Given the description of an element on the screen output the (x, y) to click on. 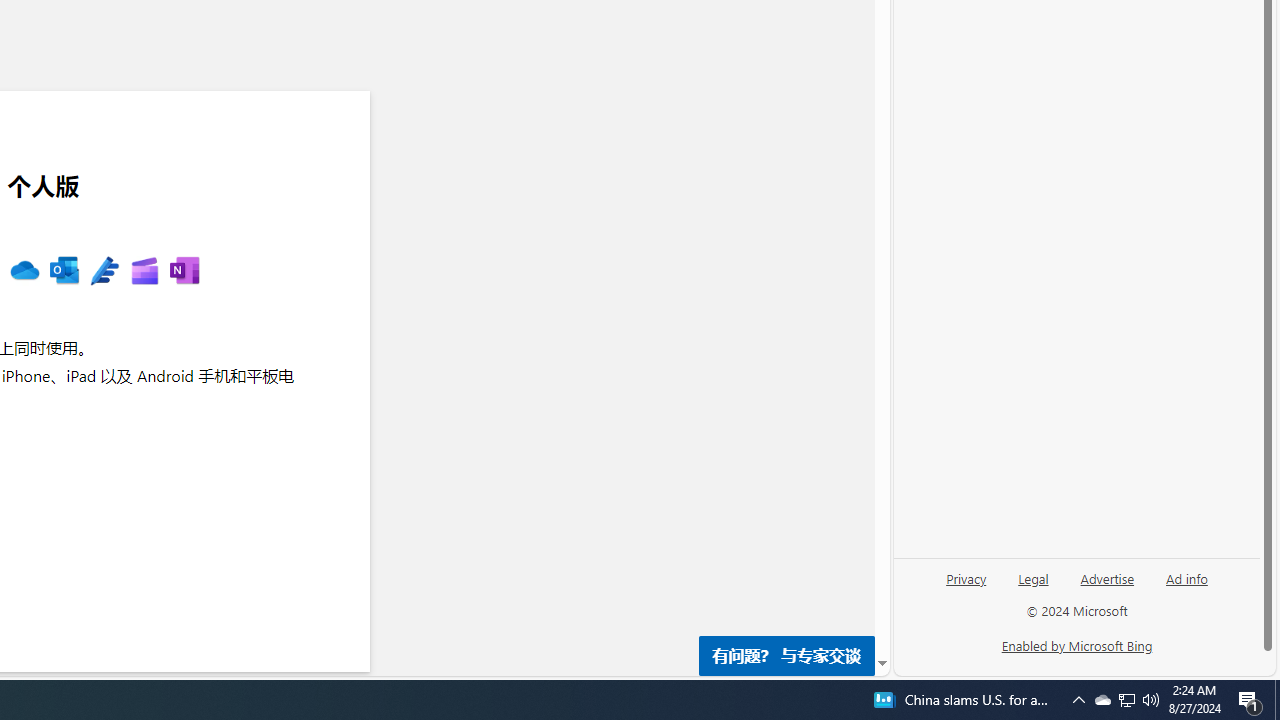
MS OneDrive (23, 271)
MS Outlook  (63, 271)
MS OneNote (183, 271)
MS Clipchamp (144, 271)
MS Editor (104, 271)
